Given the description of an element on the screen output the (x, y) to click on. 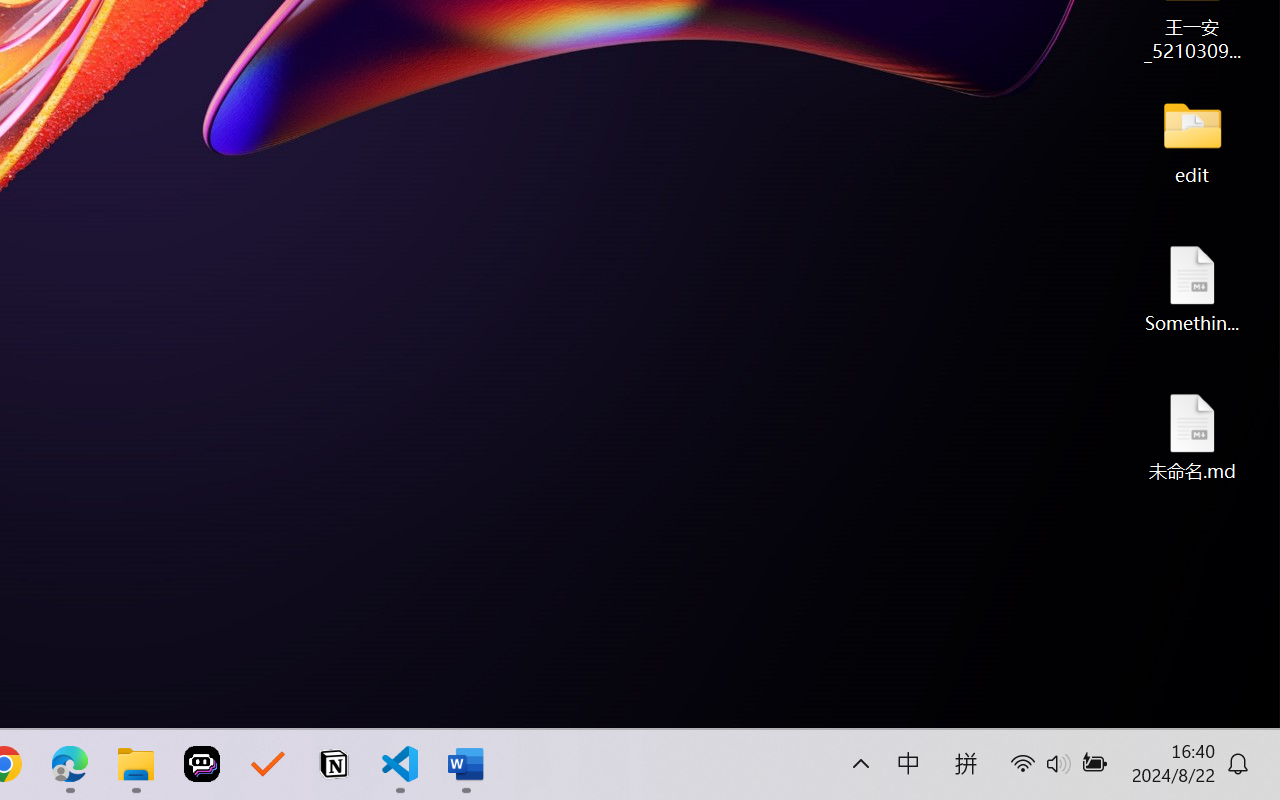
Notion (333, 764)
Something.md (1192, 288)
